Given the description of an element on the screen output the (x, y) to click on. 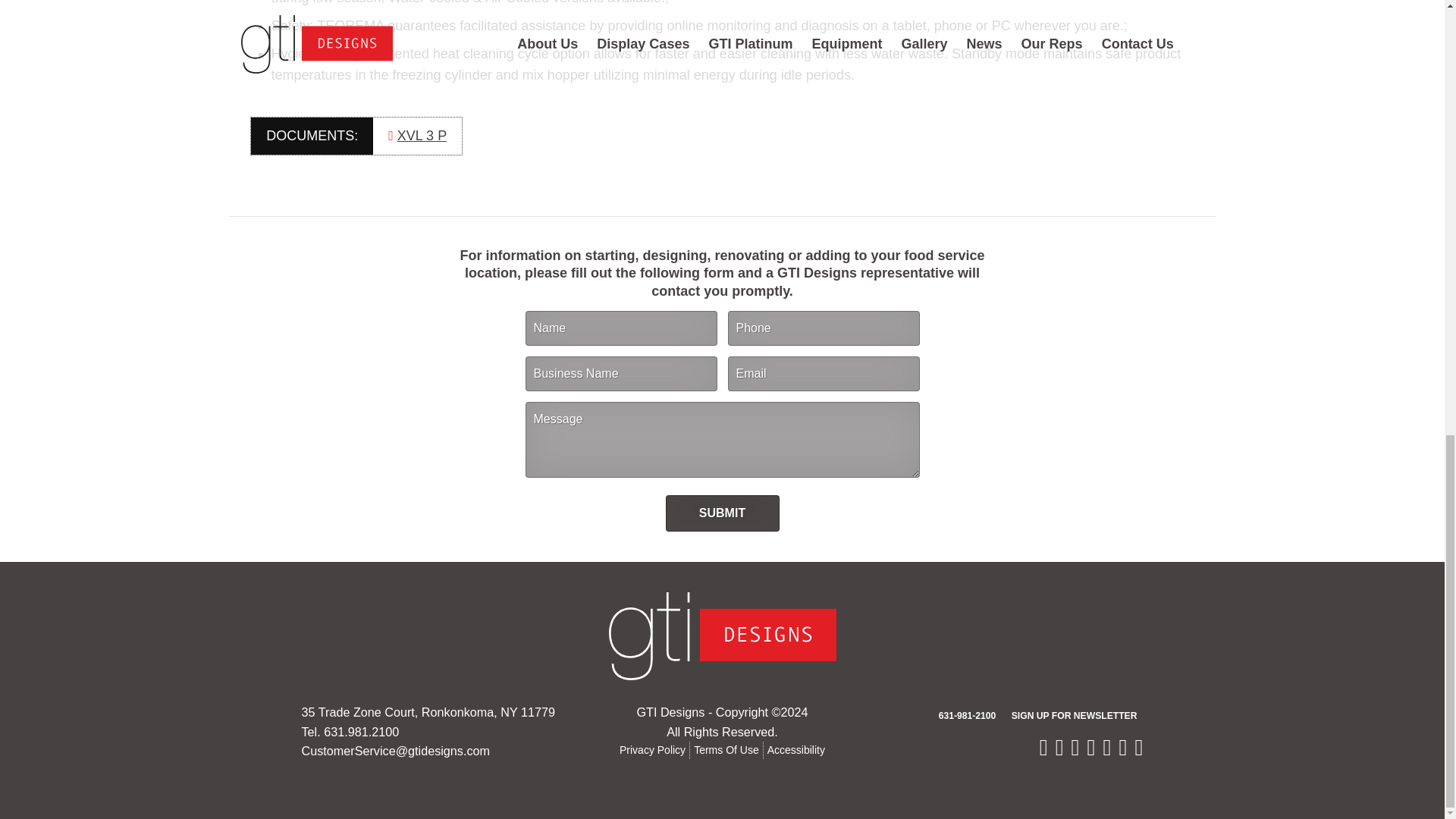
Privacy Policy (652, 749)
Terms Of Use (726, 749)
XVL 3 P (421, 136)
Submit (721, 513)
Submit (721, 513)
631.981.2100 (360, 731)
